Given the description of an element on the screen output the (x, y) to click on. 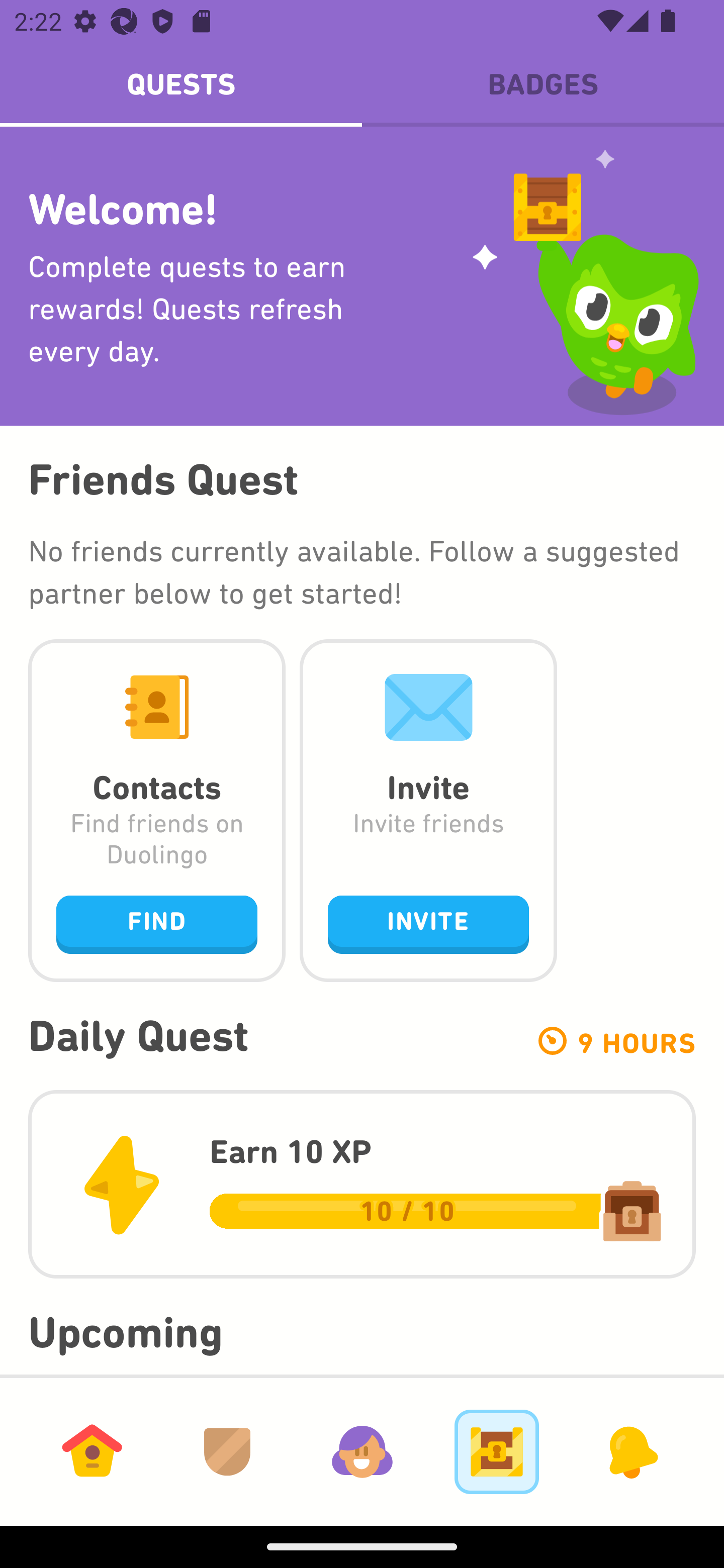
BADGES (543, 84)
FIND (156, 924)
INVITE (428, 924)
Learn Tab (91, 1451)
Leagues Tab (227, 1451)
Profile Tab (361, 1451)
Goals Tab (496, 1451)
News Tab (631, 1451)
